Given the description of an element on the screen output the (x, y) to click on. 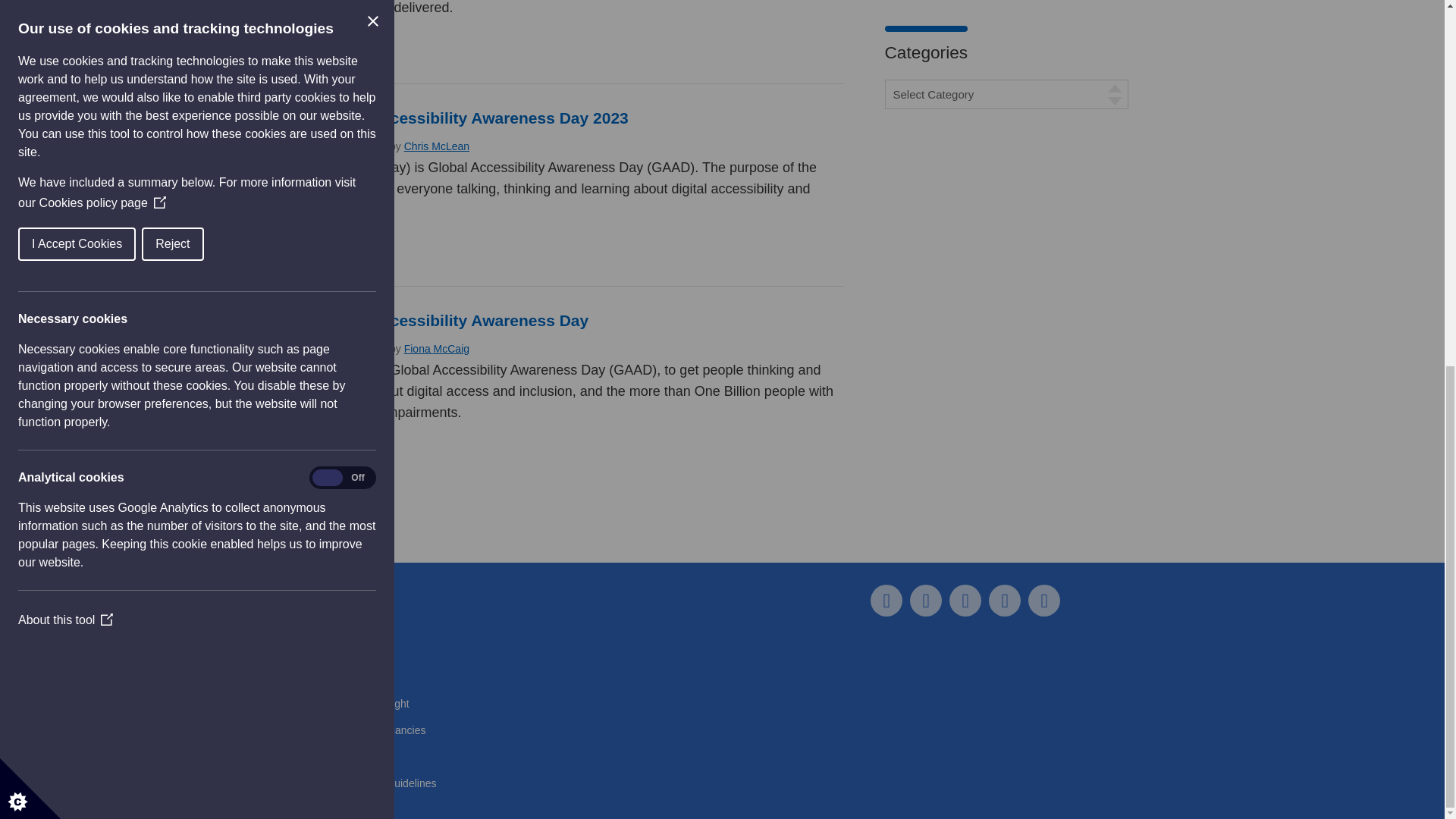
Read more (350, 454)
Read more (350, 49)
Instagram (1043, 600)
Global Accessibility Awareness Day 2023 (472, 117)
Read more (350, 252)
Twitter (926, 600)
Global Accessibility Awareness Day (453, 320)
Fiona McCaig (436, 348)
Flickr (965, 600)
Posts by Fiona McCaig (436, 348)
Posts by Chris McLean (436, 146)
YouTube (1004, 600)
Chris McLean (436, 146)
Facebook (886, 600)
